Given the description of an element on the screen output the (x, y) to click on. 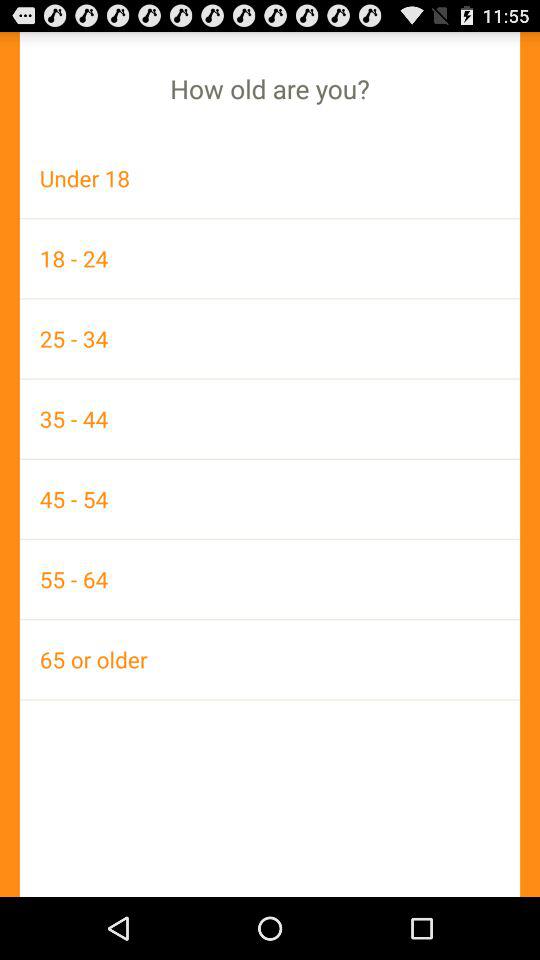
scroll until the 18 - 24 item (269, 258)
